Given the description of an element on the screen output the (x, y) to click on. 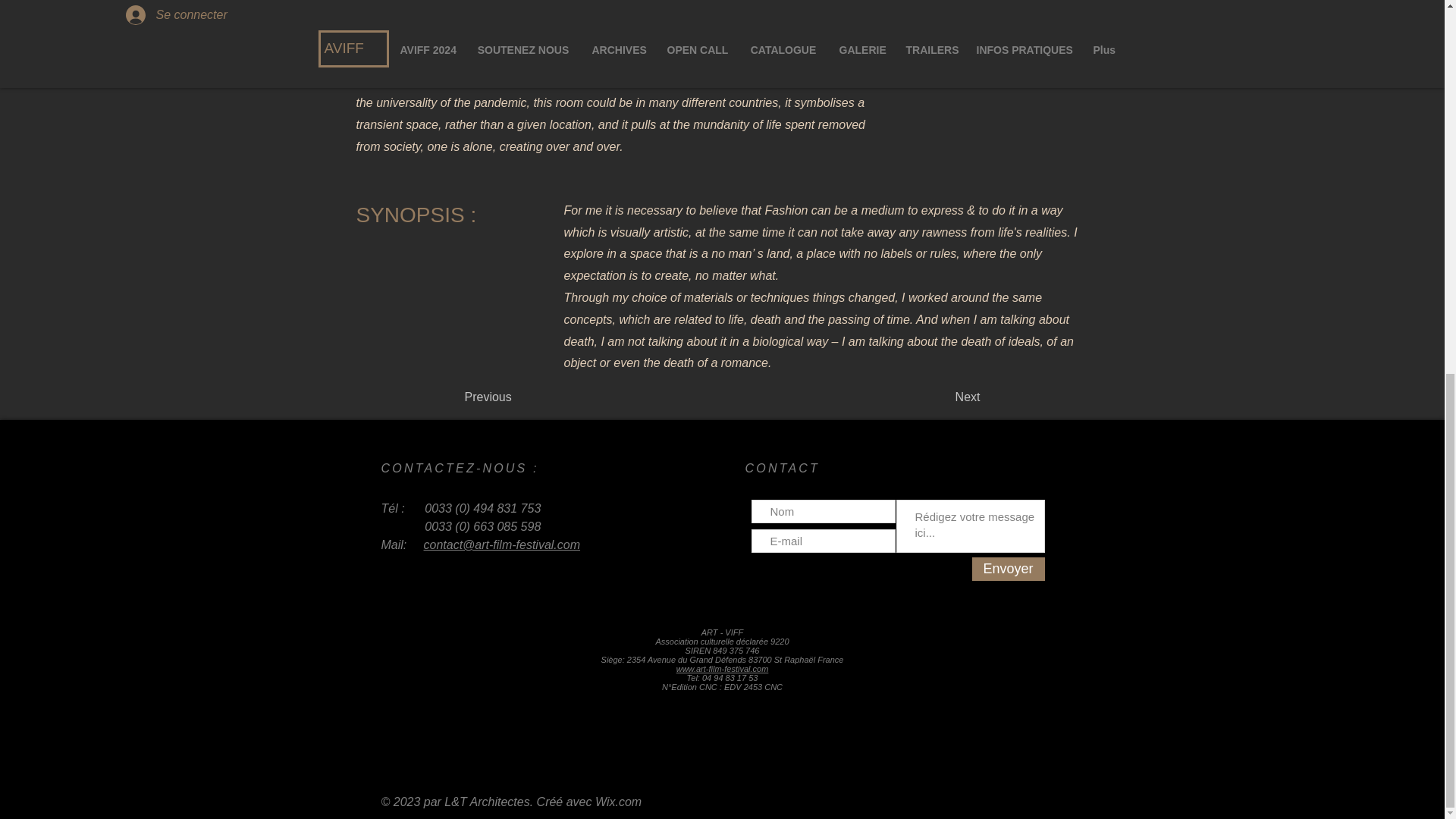
Previous (514, 397)
Next (941, 397)
Envoyer (1008, 568)
Wix.com (618, 801)
www.art-film-festival.com (722, 668)
